Given the description of an element on the screen output the (x, y) to click on. 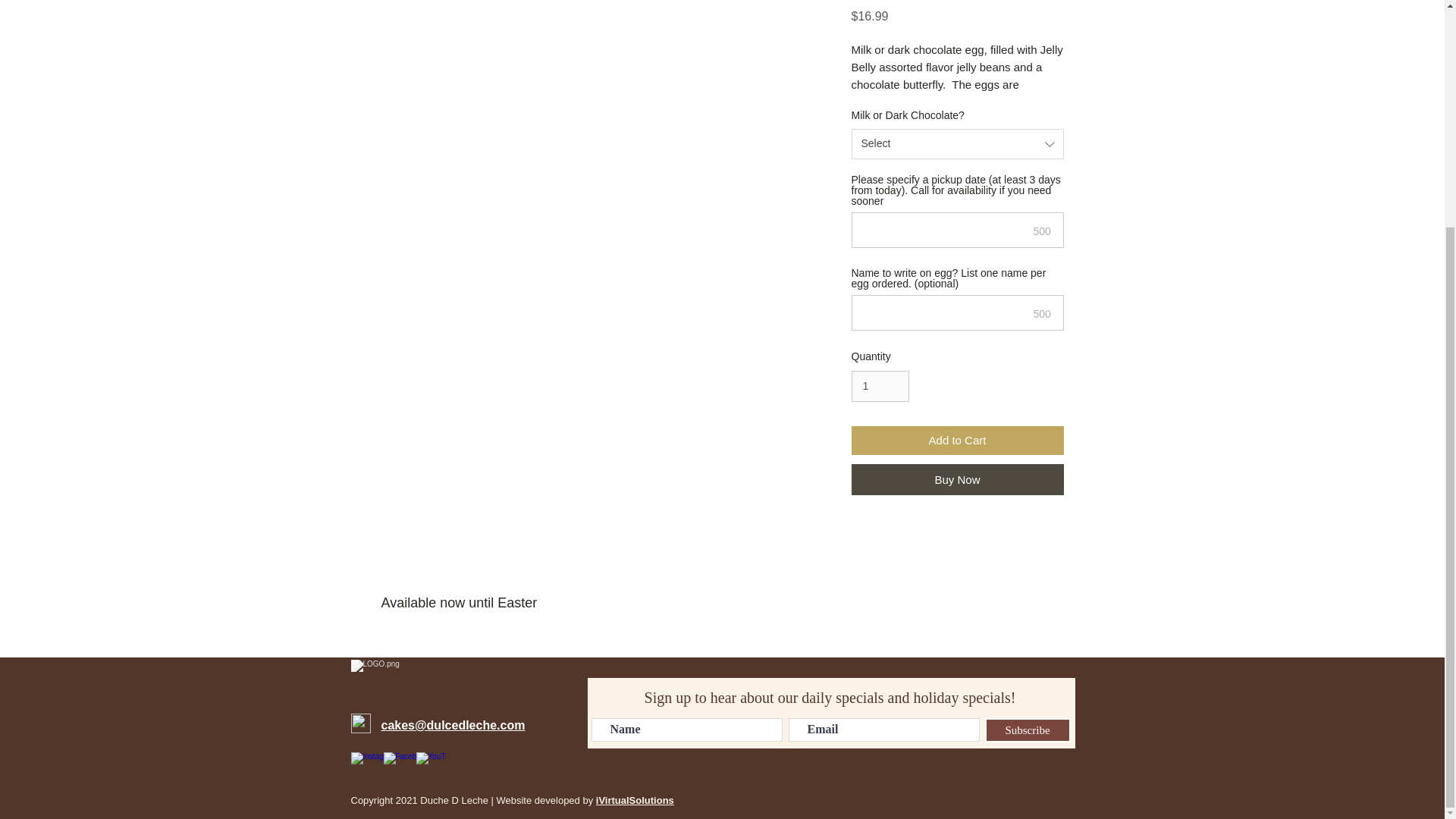
Buy Now (956, 479)
Subscribe (1027, 730)
1 (879, 386)
Add to Cart (956, 440)
iVirtualSolutions (634, 799)
Select (956, 143)
